Given the description of an element on the screen output the (x, y) to click on. 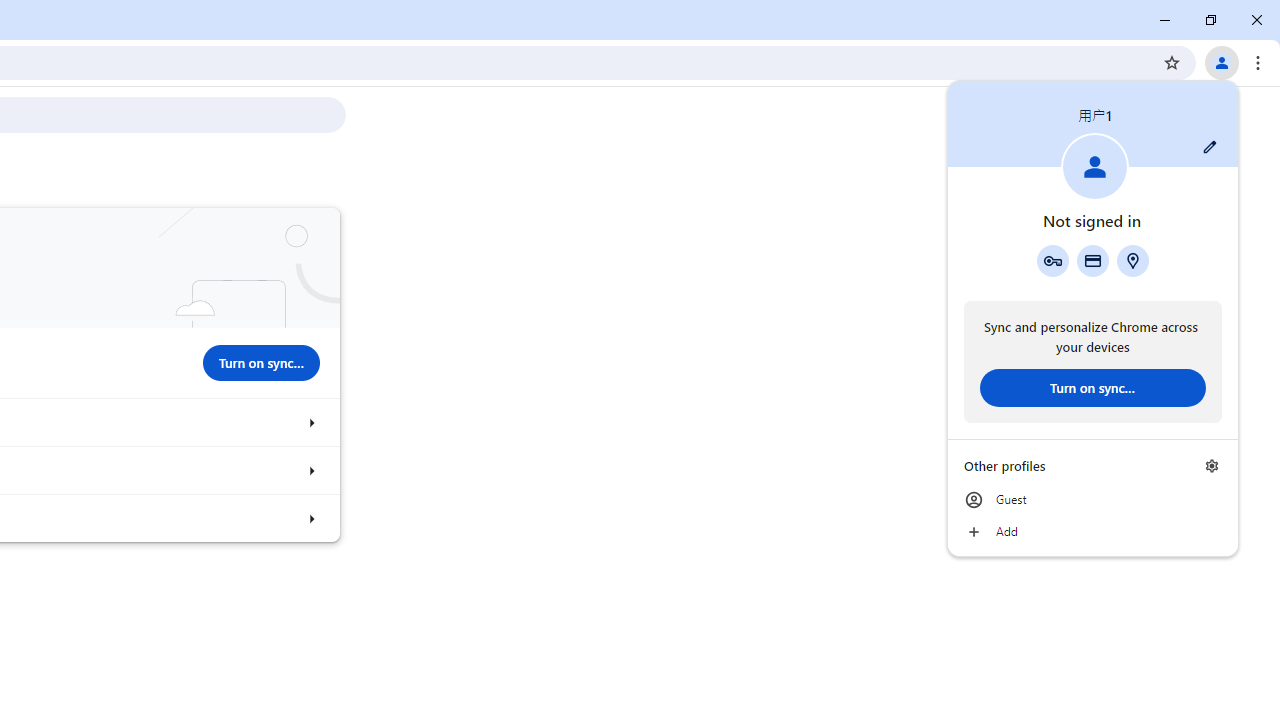
Sync and Google services (310, 422)
